Given the description of an element on the screen output the (x, y) to click on. 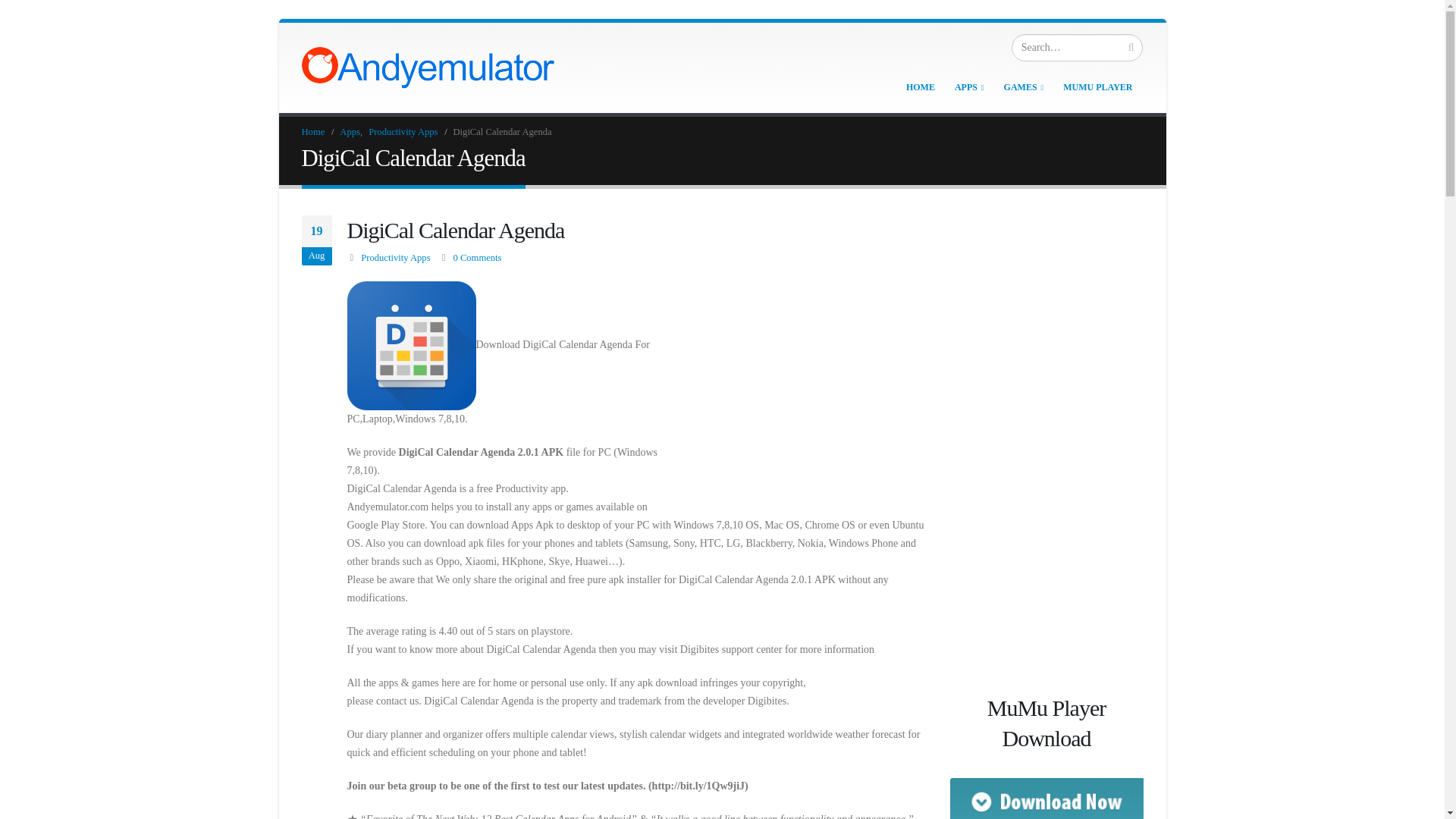
HOME (919, 86)
Home (312, 131)
APPS (968, 86)
Advertisement (798, 387)
0 Comments (476, 257)
MUMU PLAYER (1097, 86)
0 Comments (476, 257)
Search (1131, 47)
GAMES (1023, 86)
Productivity Apps (403, 131)
Andyemulator.com  -  (427, 67)
Productivity Apps (395, 257)
Apps (349, 131)
